Given the description of an element on the screen output the (x, y) to click on. 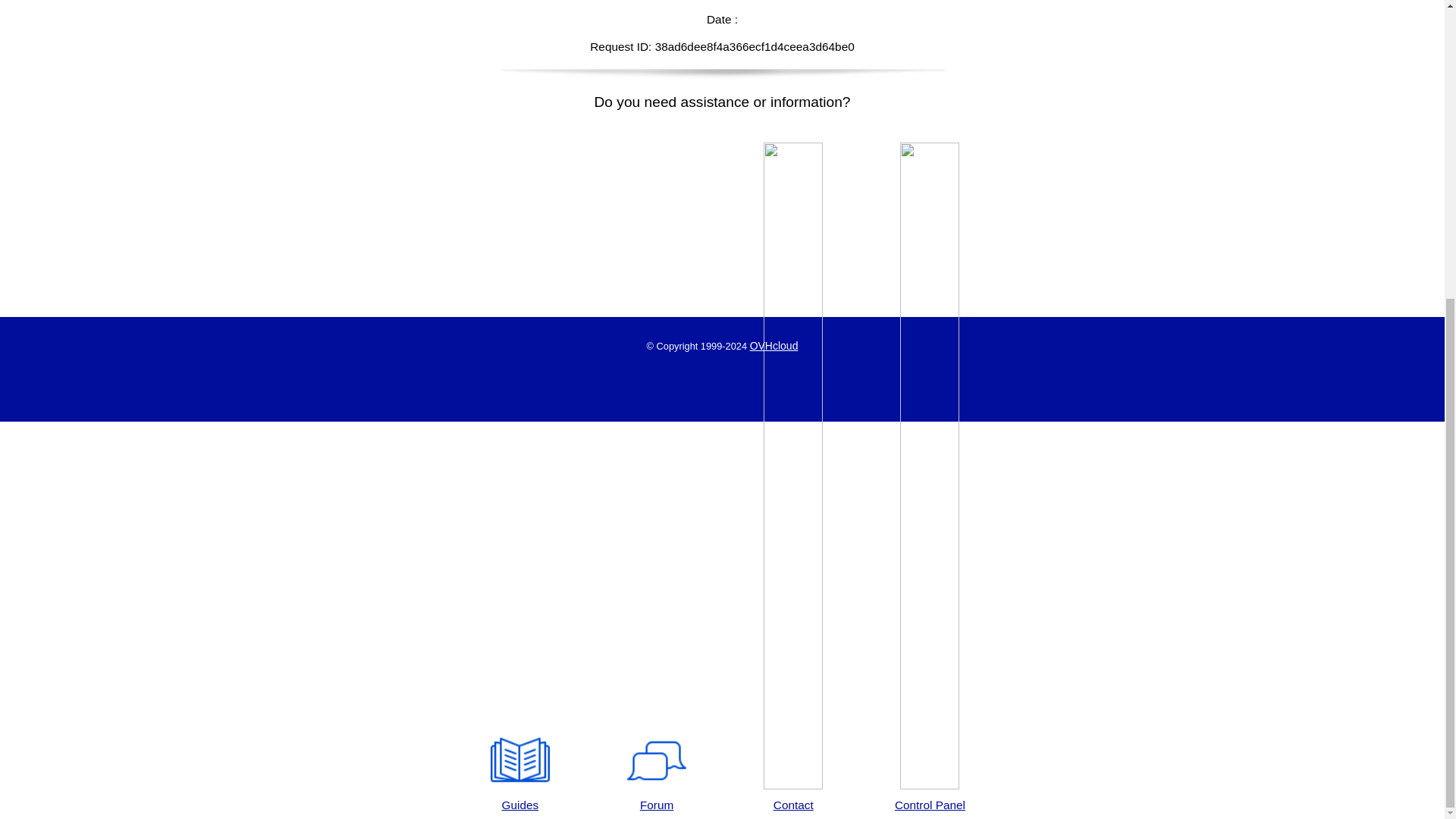
Guides (519, 772)
Guides (519, 772)
Forum (656, 772)
Forum (656, 772)
OVHcloud (773, 345)
